Given the description of an element on the screen output the (x, y) to click on. 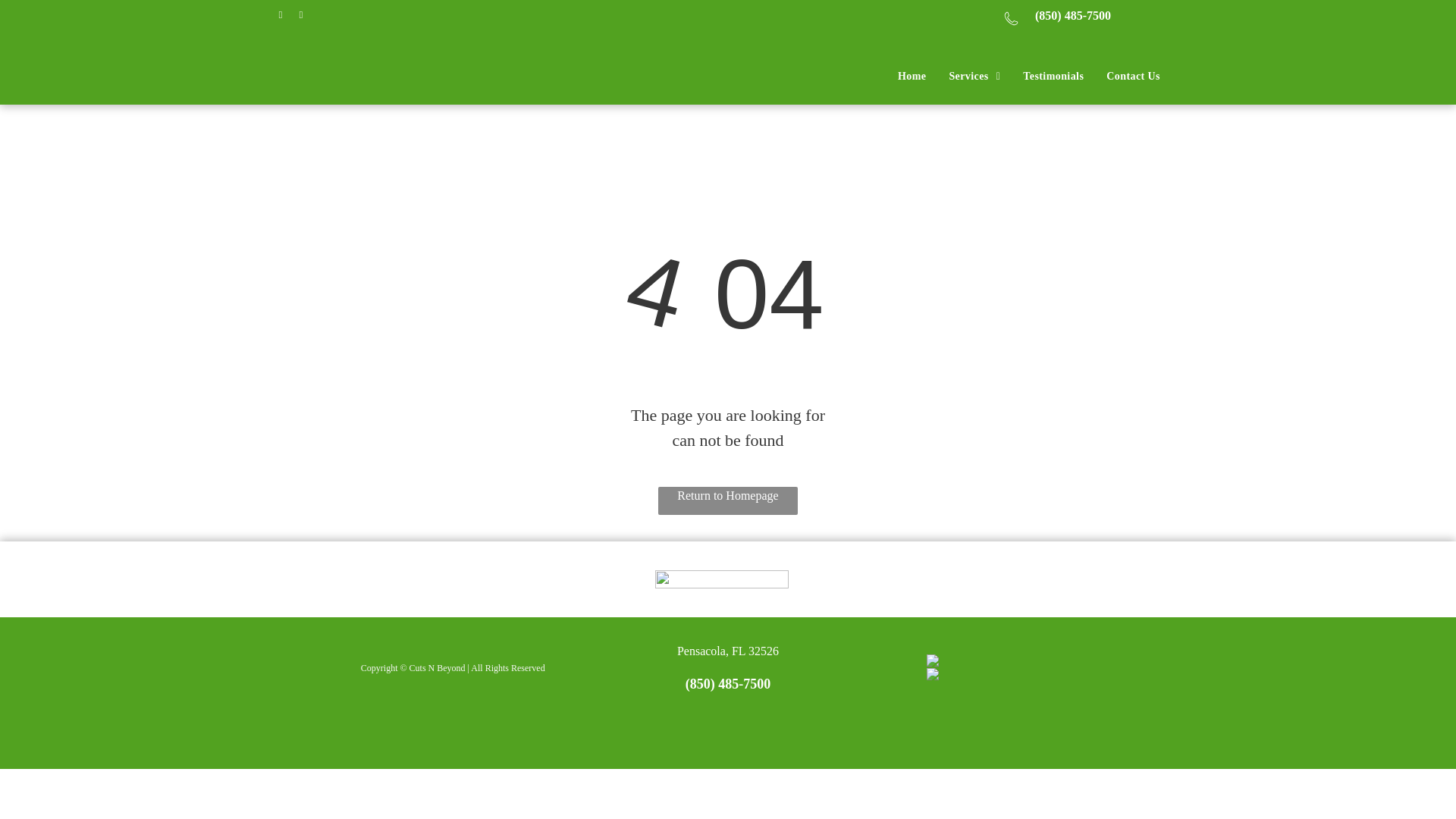
Contact Us (1133, 75)
Services (974, 75)
Return to Homepage (727, 500)
Home (911, 75)
Testimonials (1052, 75)
